Given the description of an element on the screen output the (x, y) to click on. 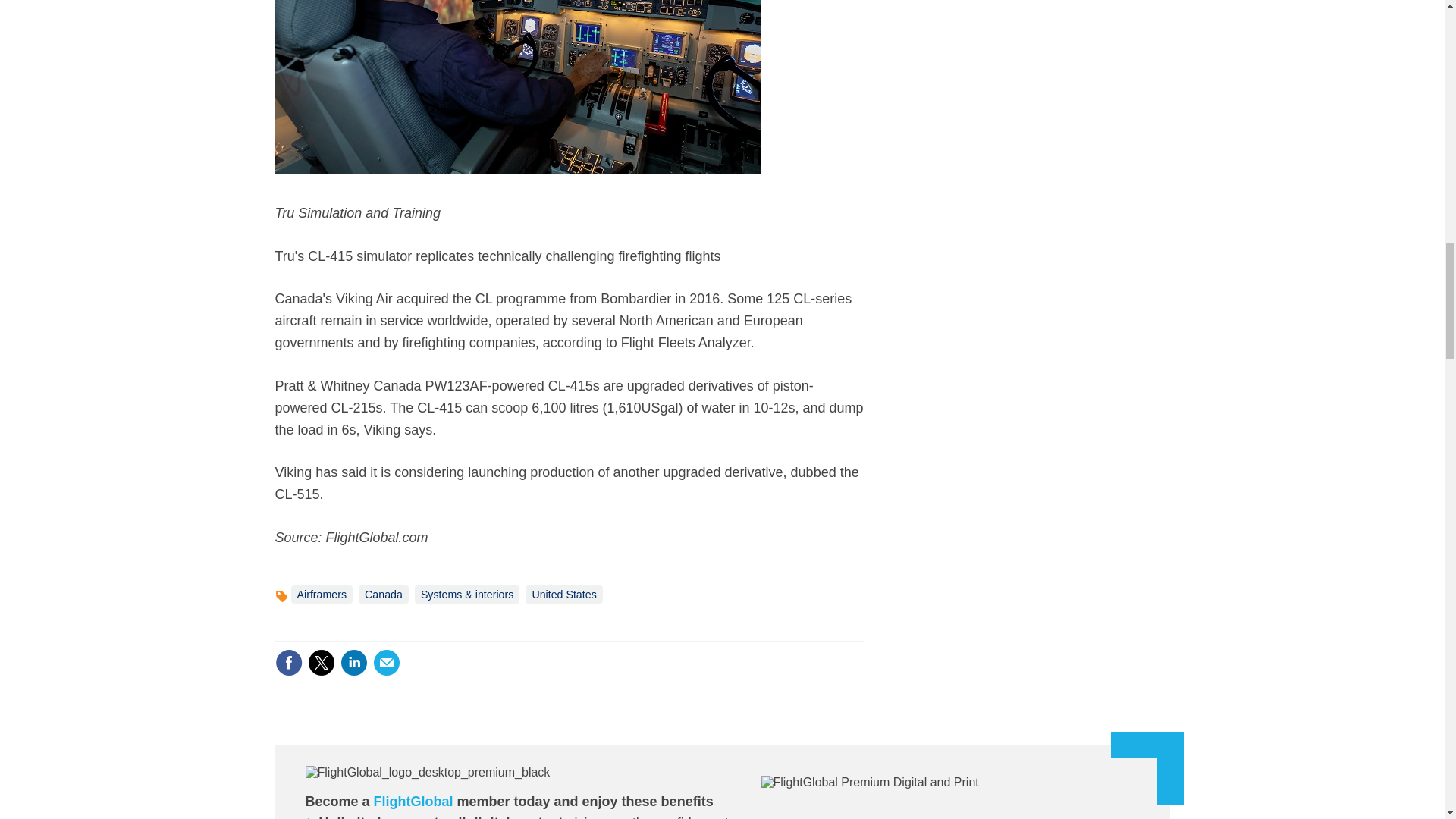
Share this on Facebook (288, 662)
Share this on Linked in (352, 662)
Email this article (386, 662)
Share this on Twitter (320, 662)
